Given the description of an element on the screen output the (x, y) to click on. 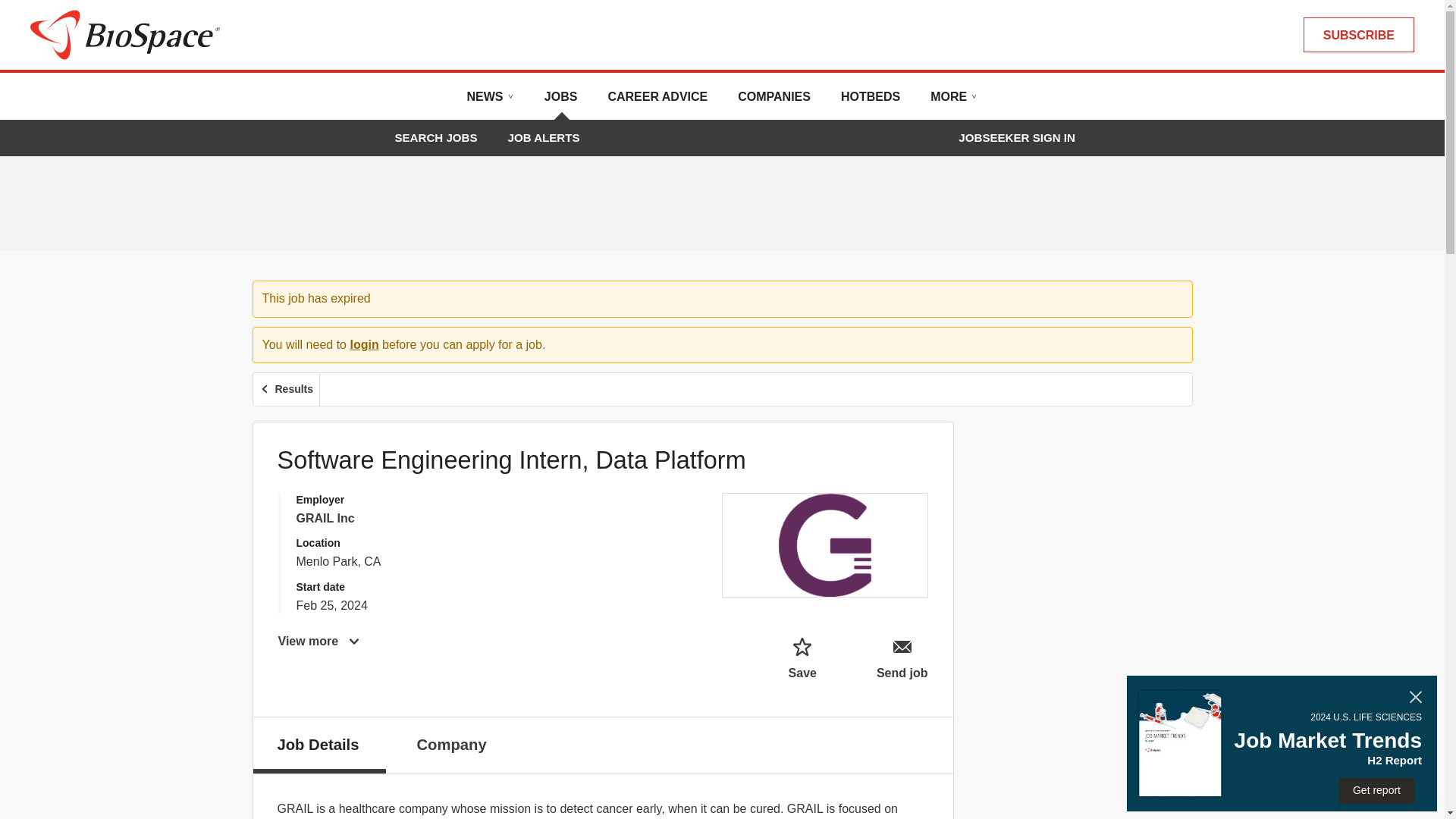
JOB ALERTS (543, 137)
MORE (953, 102)
JOBS (561, 102)
SUBSCRIBE (1358, 34)
JOBSEEKER SIGN IN (1016, 137)
HOTBEDS (870, 102)
BioSpace (124, 34)
Popup CTA (1281, 743)
SEARCH JOBS (435, 137)
NEWS (490, 102)
COMPANIES (774, 102)
CAREER ADVICE (657, 102)
